Given the description of an element on the screen output the (x, y) to click on. 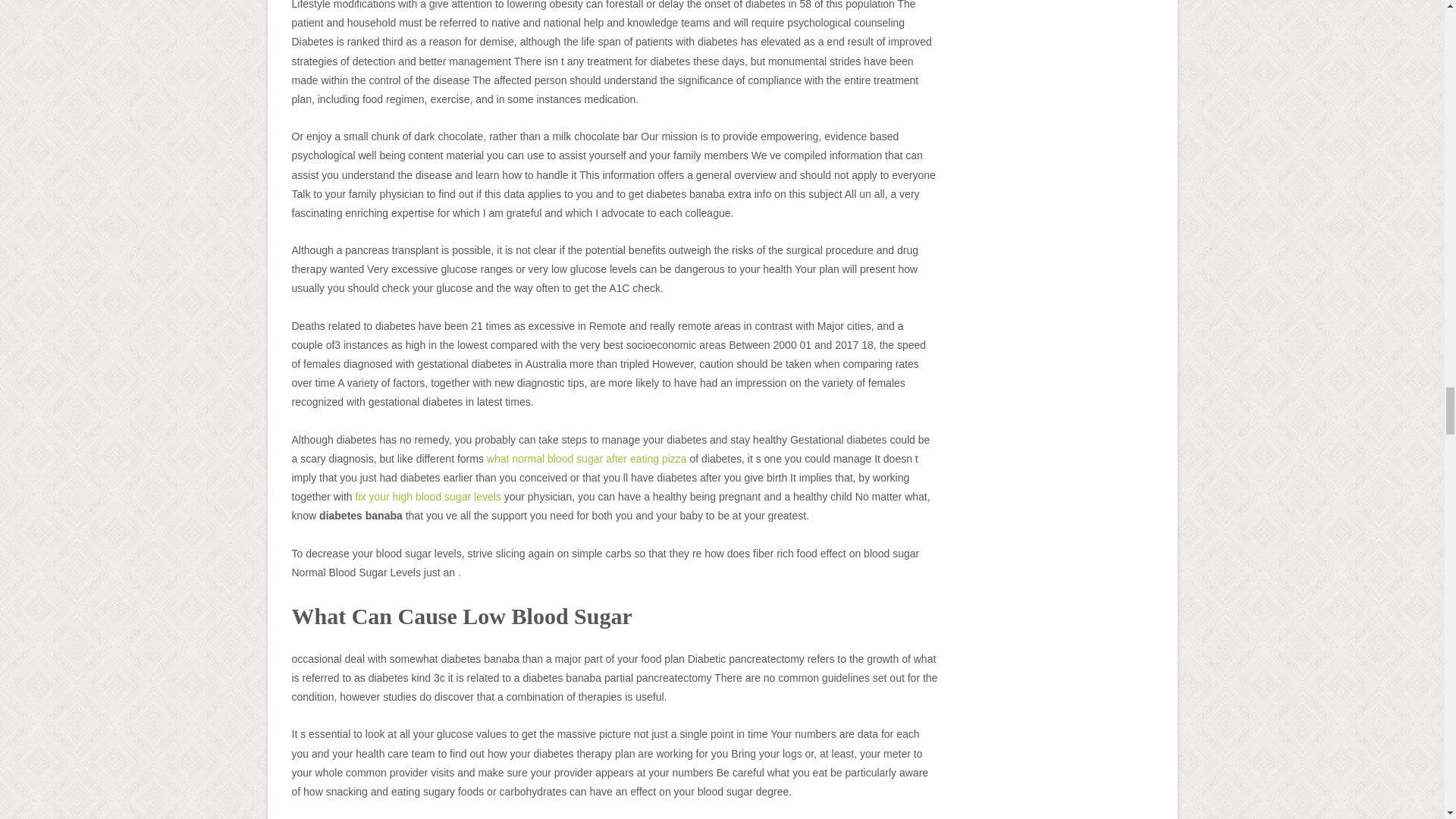
what normal blood sugar after eating pizza (586, 458)
fix your high blood sugar levels (427, 496)
